Given the description of an element on the screen output the (x, y) to click on. 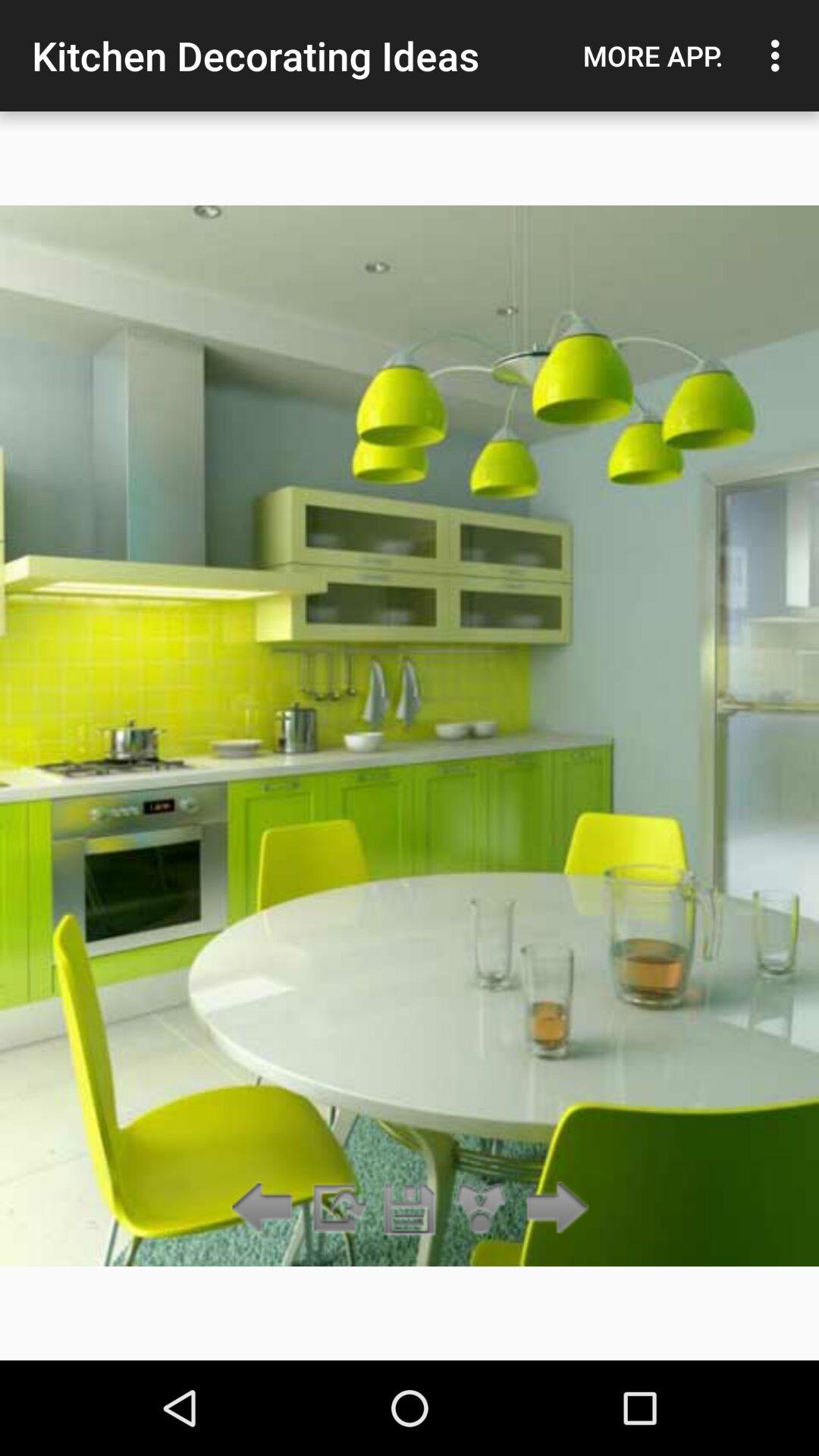
tap the item below the kitchen decorating ideas item (337, 1208)
